Given the description of an element on the screen output the (x, y) to click on. 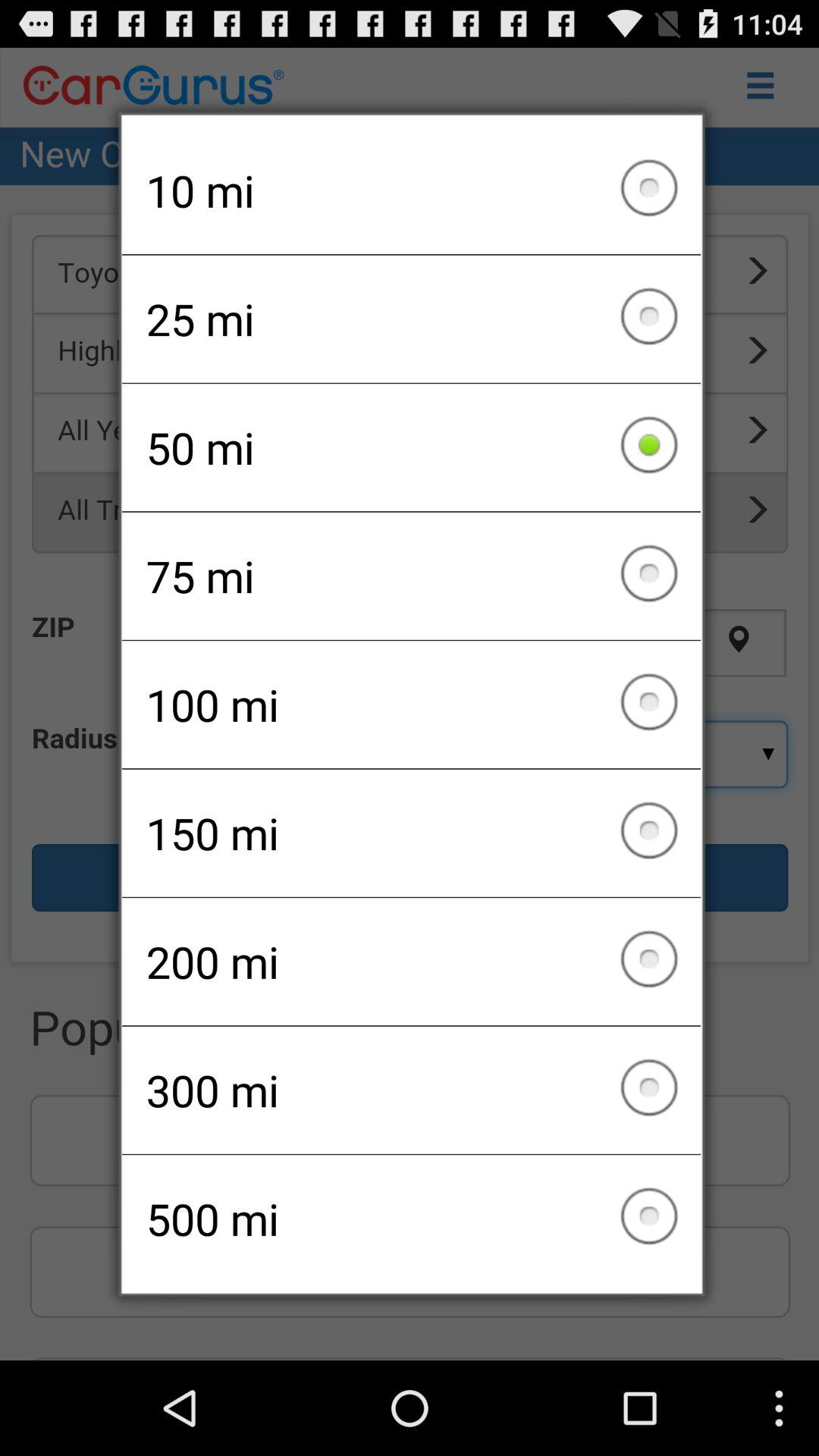
choose the 75 mi icon (411, 575)
